Given the description of an element on the screen output the (x, y) to click on. 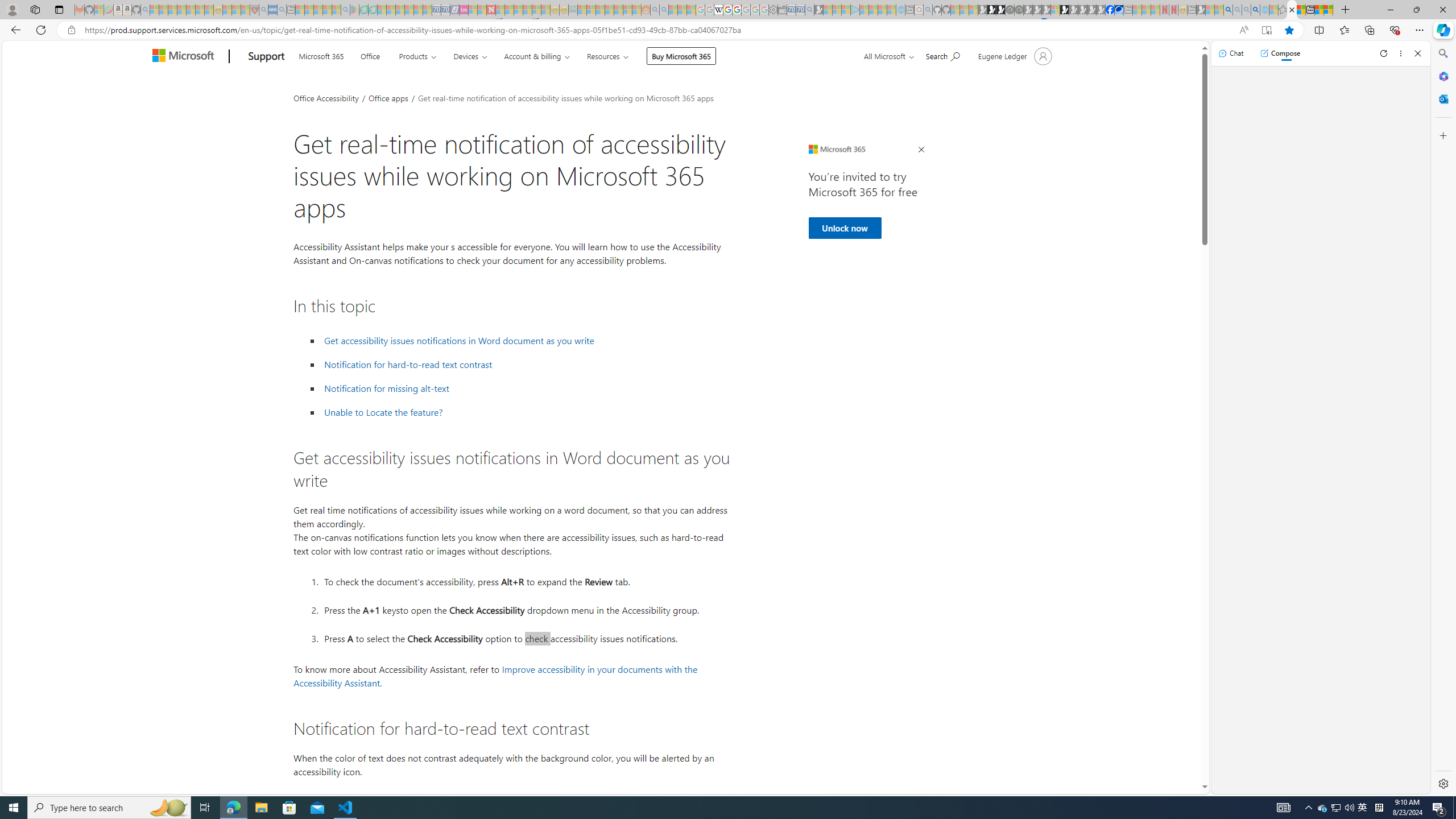
Office Accessibility (326, 97)
Favorites - Sleeping (1283, 9)
